Given the description of an element on the screen output the (x, y) to click on. 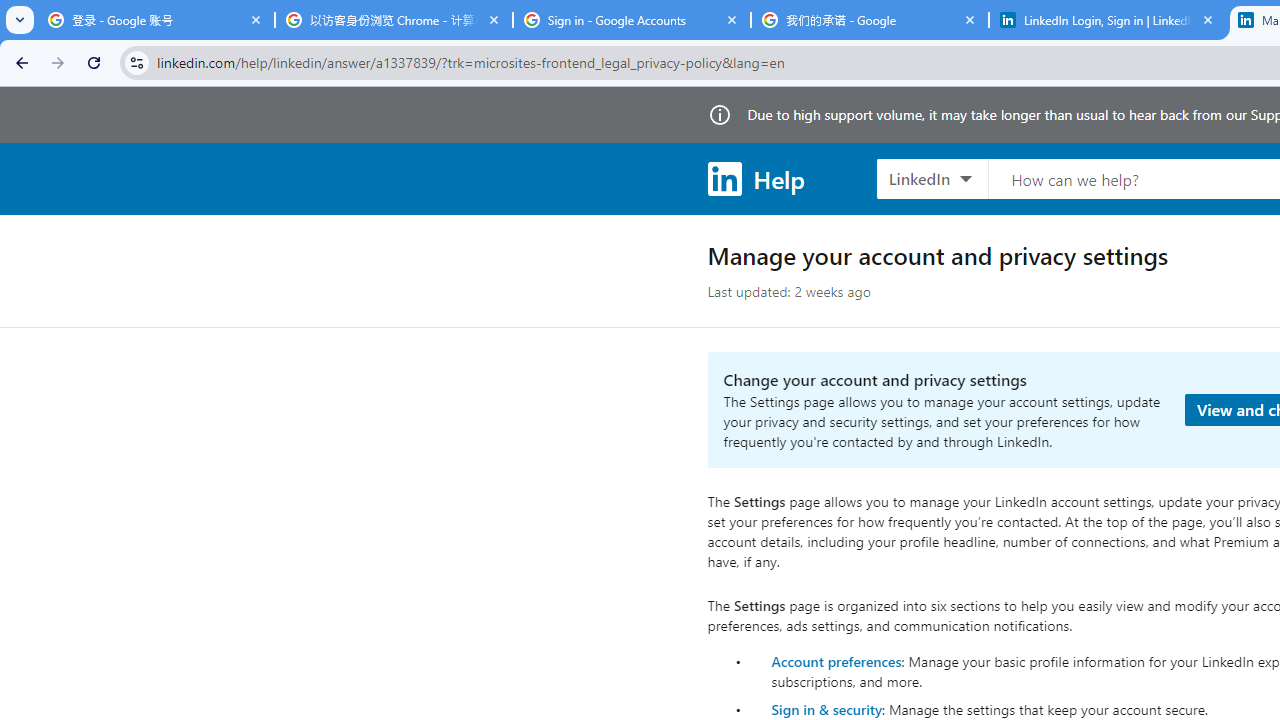
LinkedIn products to search, LinkedIn selected (932, 178)
